Given the description of an element on the screen output the (x, y) to click on. 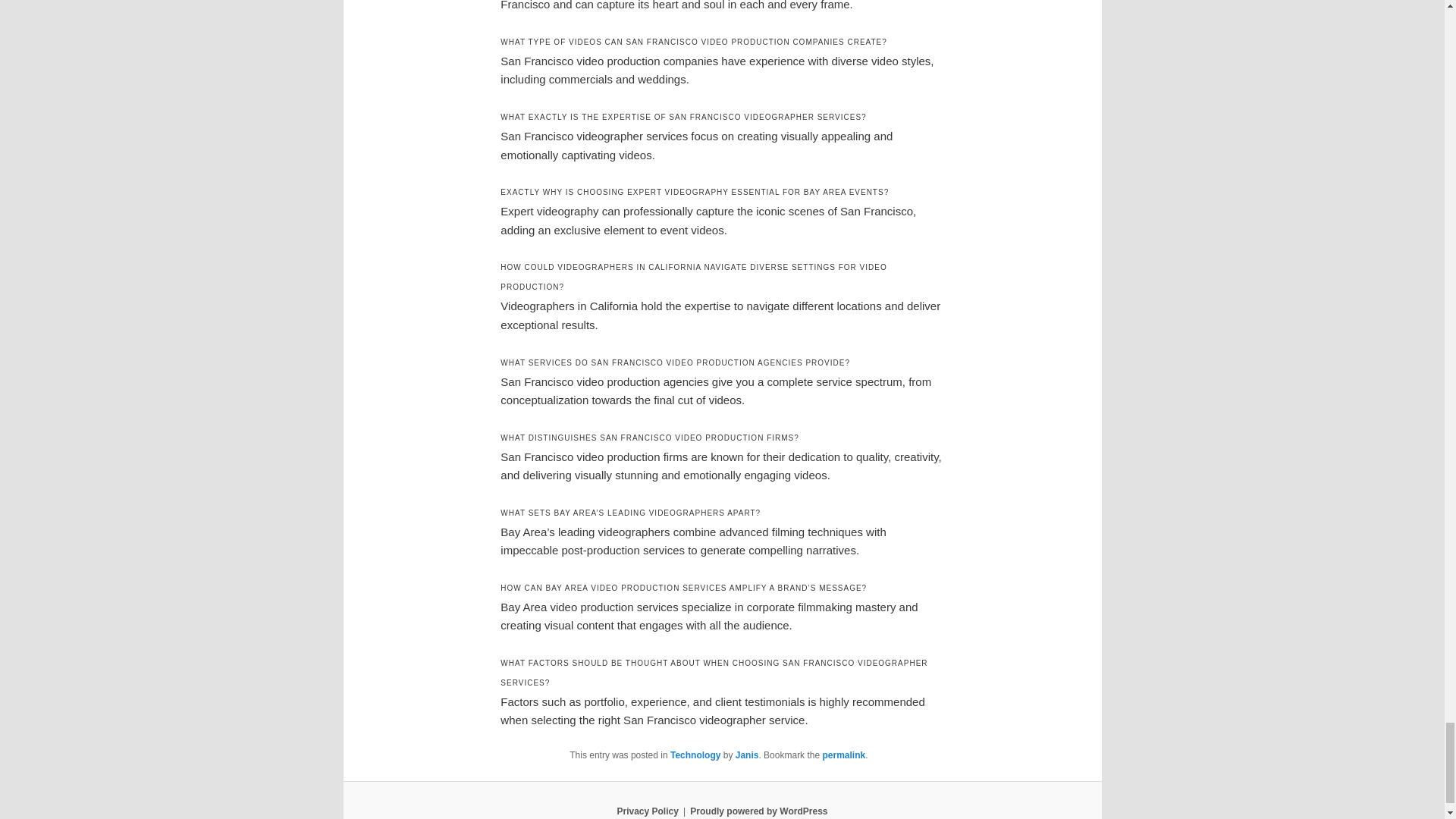
Technology (694, 755)
Semantic Personal Publishing Platform (758, 810)
Proudly powered by WordPress (758, 810)
Janis (746, 755)
permalink (843, 755)
Privacy Policy (646, 810)
